Given the description of an element on the screen output the (x, y) to click on. 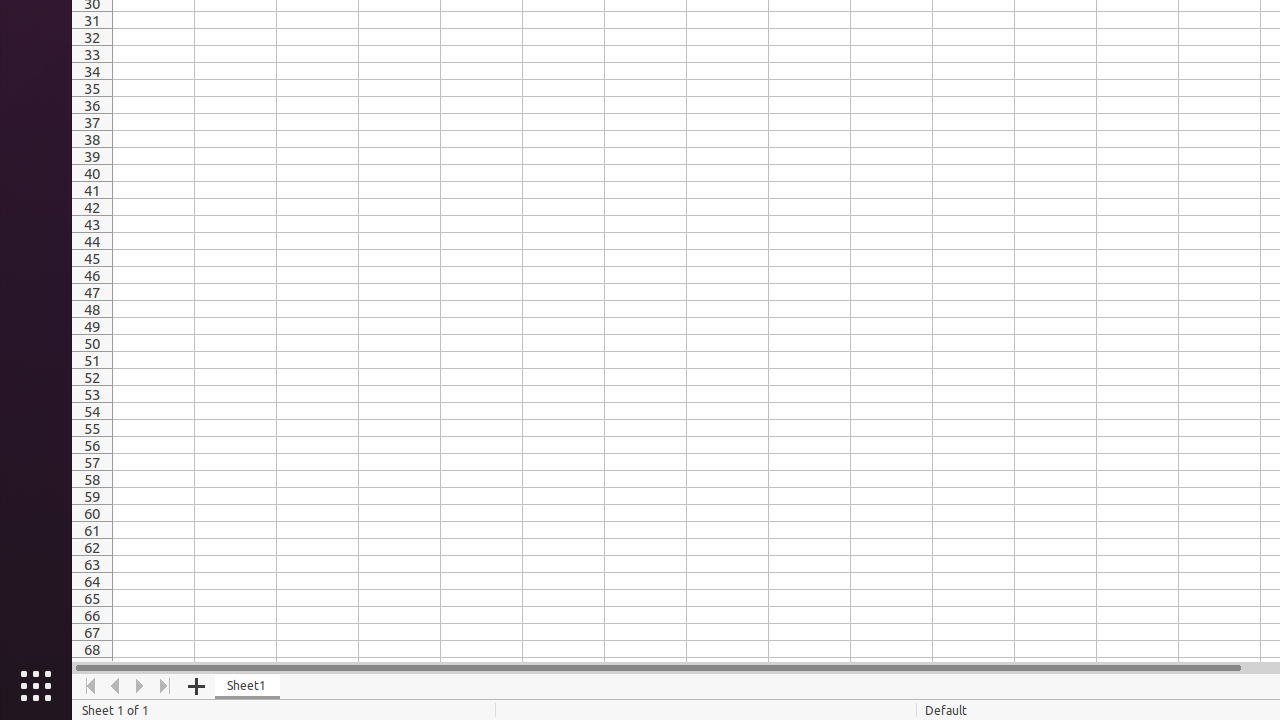
Move Left Element type: push-button (115, 686)
Move To End Element type: push-button (165, 686)
Sheet1 Element type: page-tab (247, 686)
Move Right Element type: push-button (140, 686)
